Given the description of an element on the screen output the (x, y) to click on. 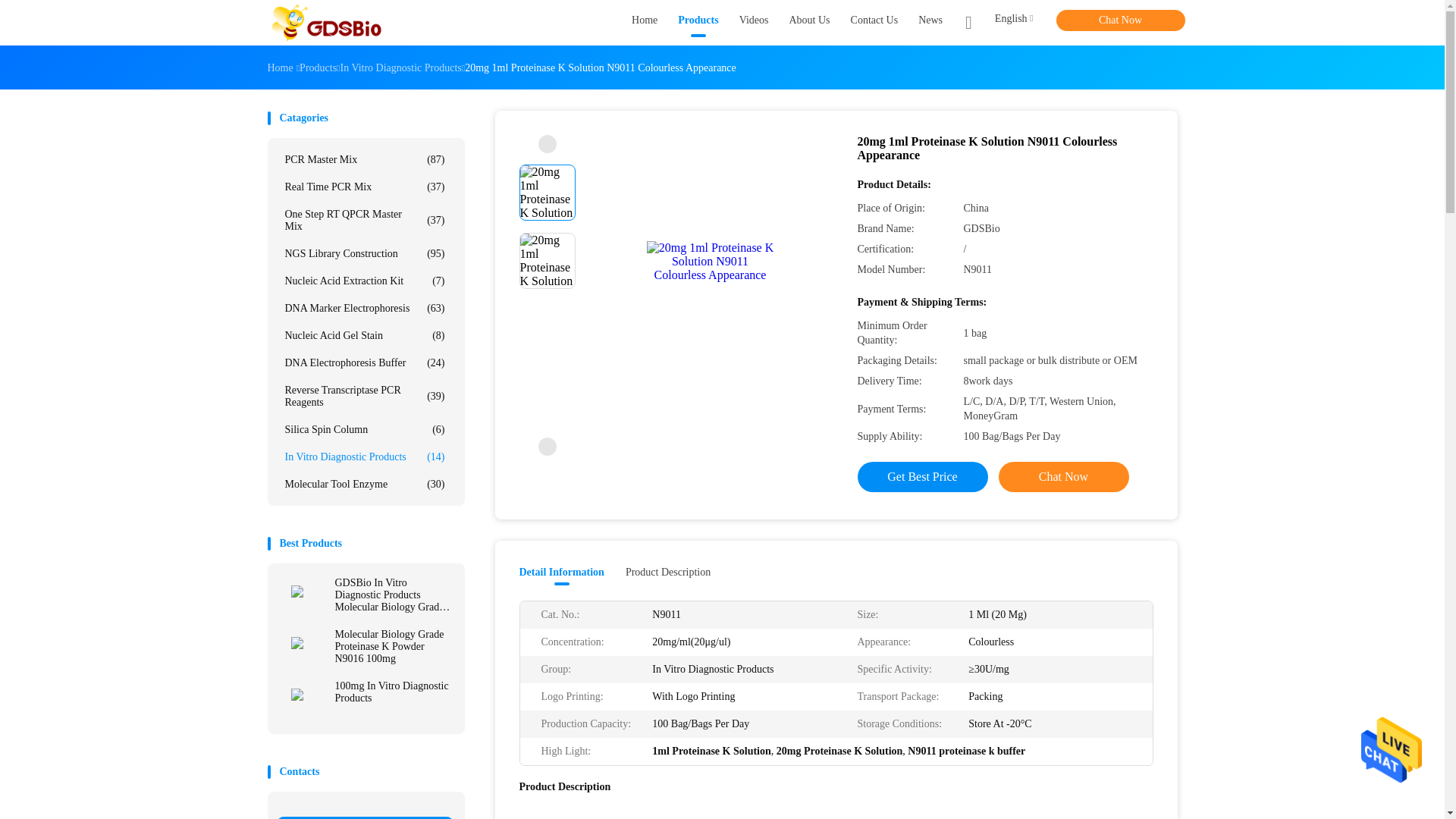
Products (697, 22)
Guangzhou Dongsheng Biotech Co., Ltd (326, 22)
News (930, 22)
Contact Us (874, 22)
Videos (753, 22)
About Us (809, 22)
Home (644, 22)
